Given the description of an element on the screen output the (x, y) to click on. 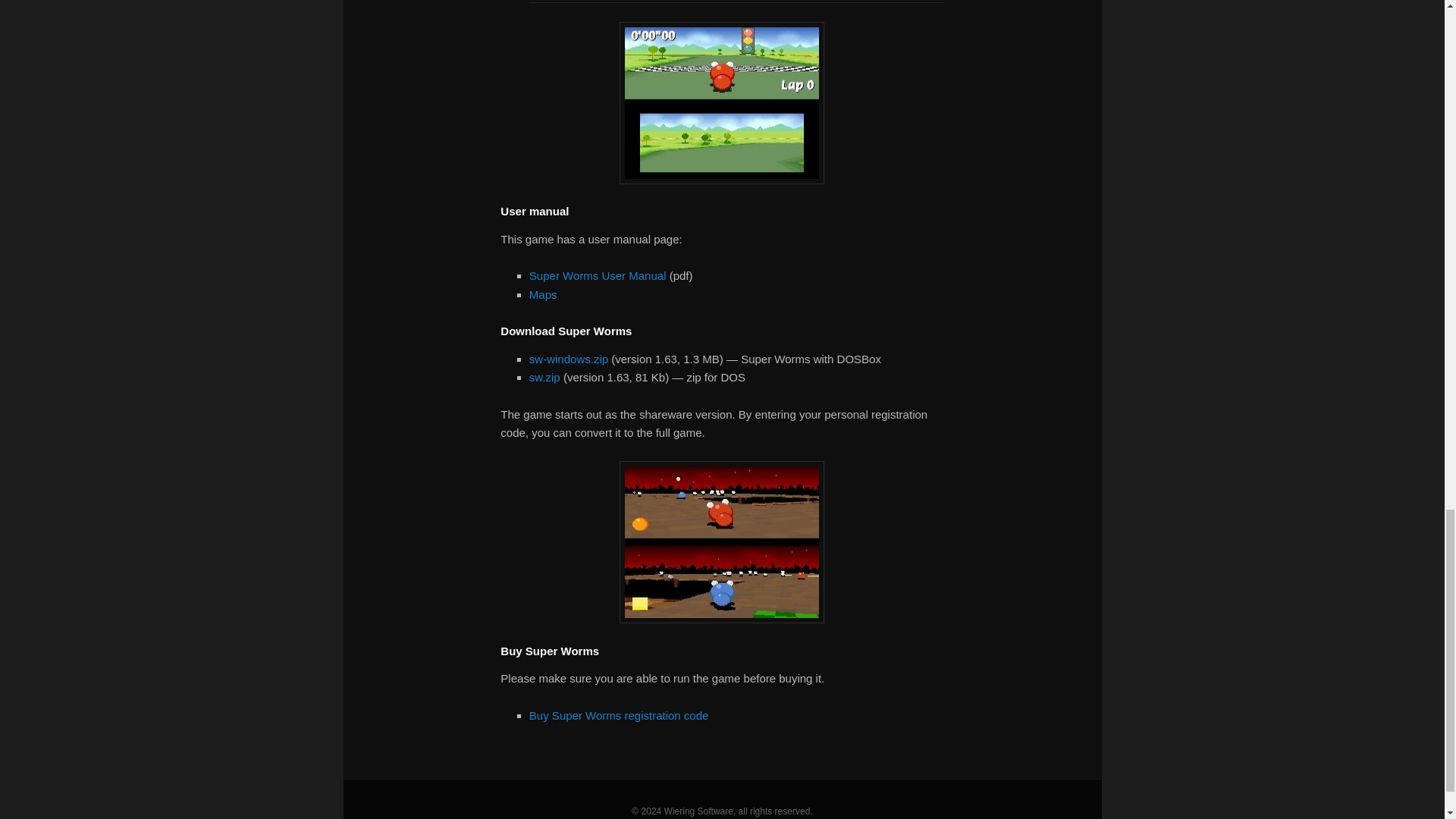
Buy Super Worms registration code (619, 715)
Super Worms User Manual (597, 275)
Maps (543, 294)
sw.zip (544, 377)
sw-windows.zip (568, 358)
